Given the description of an element on the screen output the (x, y) to click on. 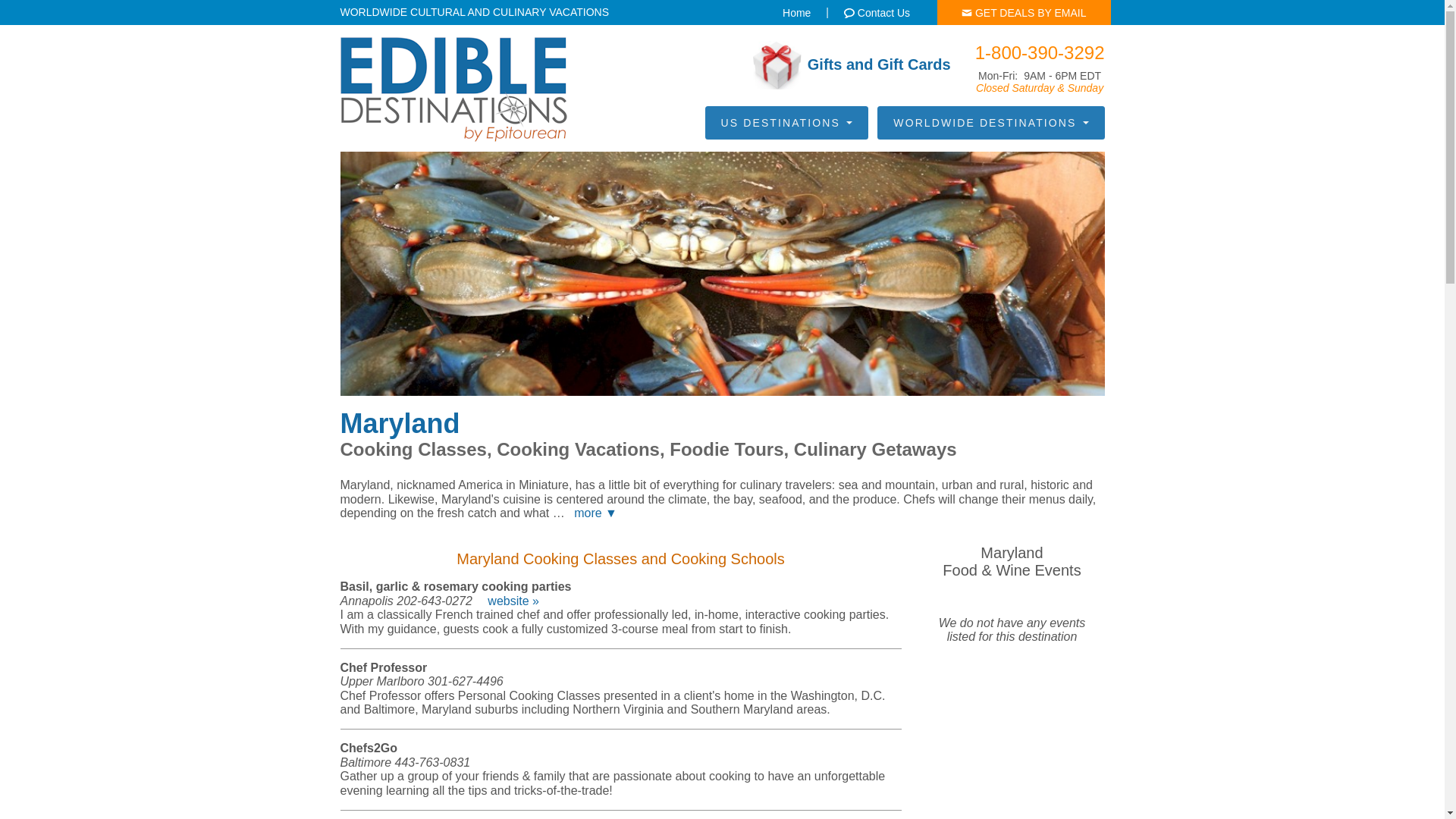
Home (796, 11)
Contact Us (877, 11)
WORLDWIDE DESTINATIONS (990, 122)
GET DEALS BY EMAIL (1023, 12)
Gifts and Gift Cards (851, 64)
US DESTINATIONS (785, 122)
